Given the description of an element on the screen output the (x, y) to click on. 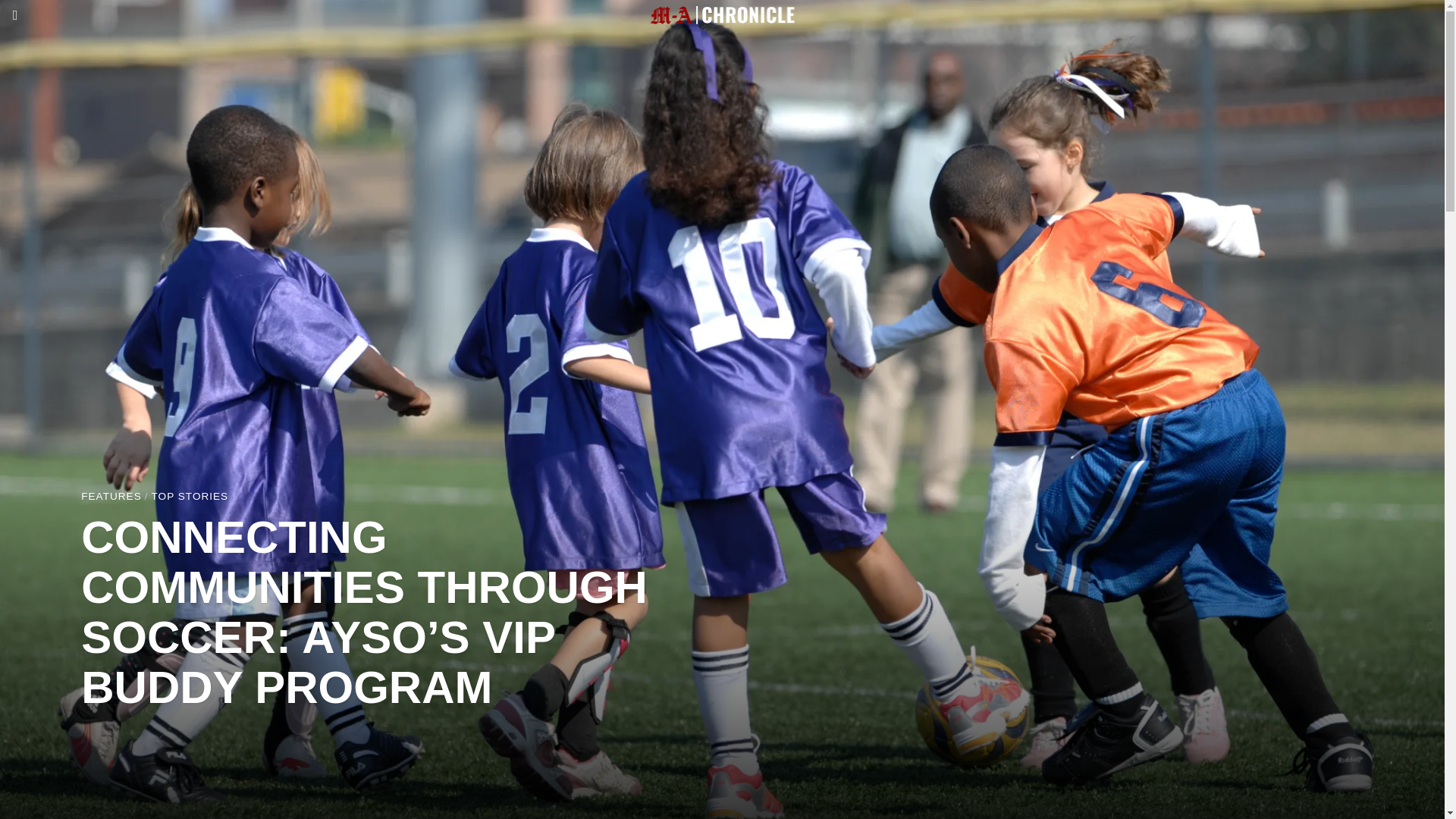
FEATURES (111, 496)
TOP STORIES (189, 496)
